Given the description of an element on the screen output the (x, y) to click on. 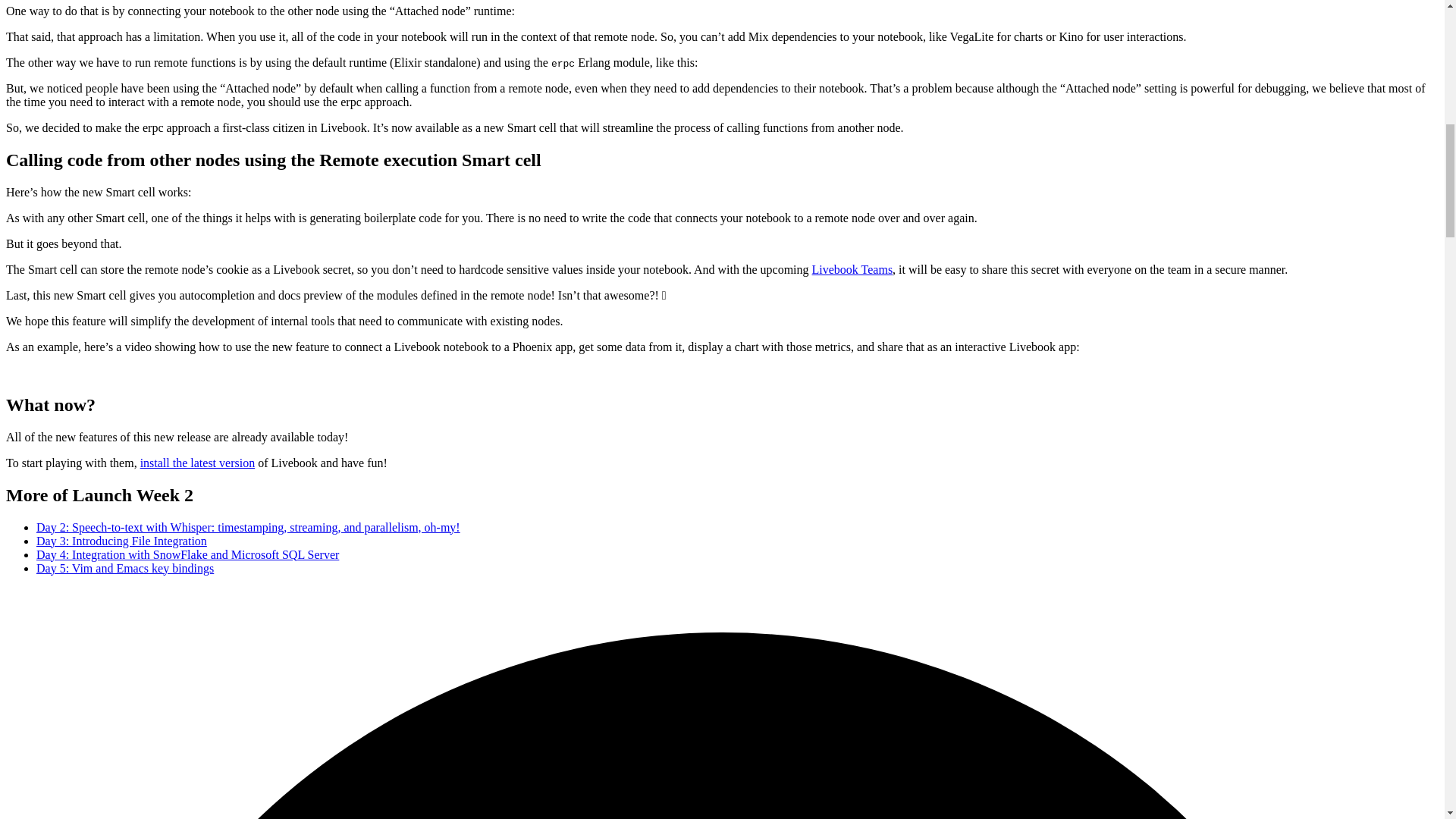
Day 3: Introducing File Integration (121, 540)
Day 4: Integration with SnowFlake and Microsoft SQL Server (187, 554)
Day 5: Vim and Emacs key bindings (125, 567)
Livebook Teams (852, 269)
install the latest version (197, 462)
